Given the description of an element on the screen output the (x, y) to click on. 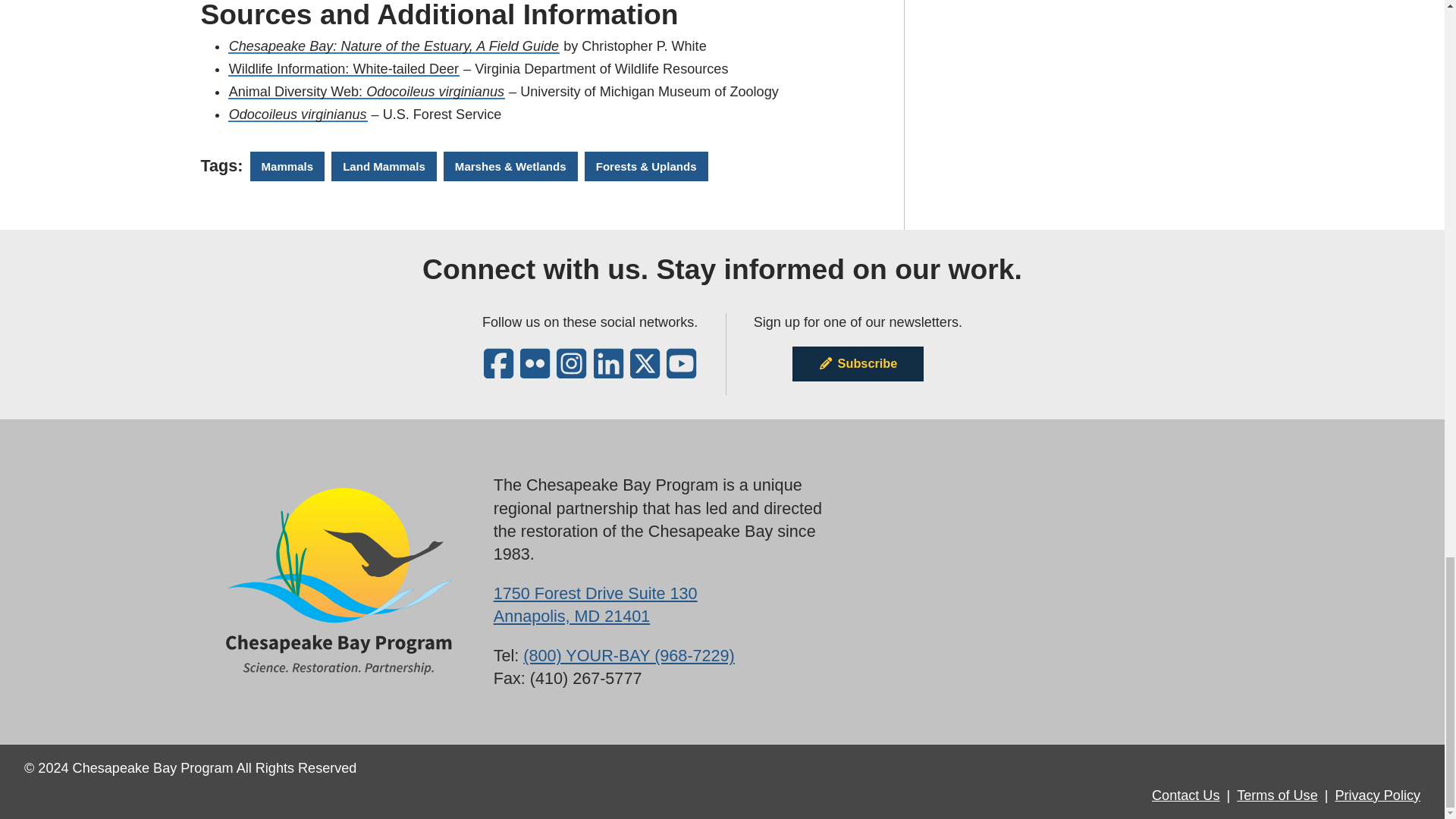
Privacy Policy (1378, 795)
Subscribe (857, 363)
Follow us on X, formerly known as Twitter (644, 371)
Land Mammals (383, 165)
View our photos on Flickr (534, 371)
Chesapeake Bay: Nature of the Estuary, A Field Guide (393, 46)
Terms of Use (1276, 795)
Wildlife Information: White-tailed Deer (595, 604)
Follow us on Instagram (344, 68)
